Given the description of an element on the screen output the (x, y) to click on. 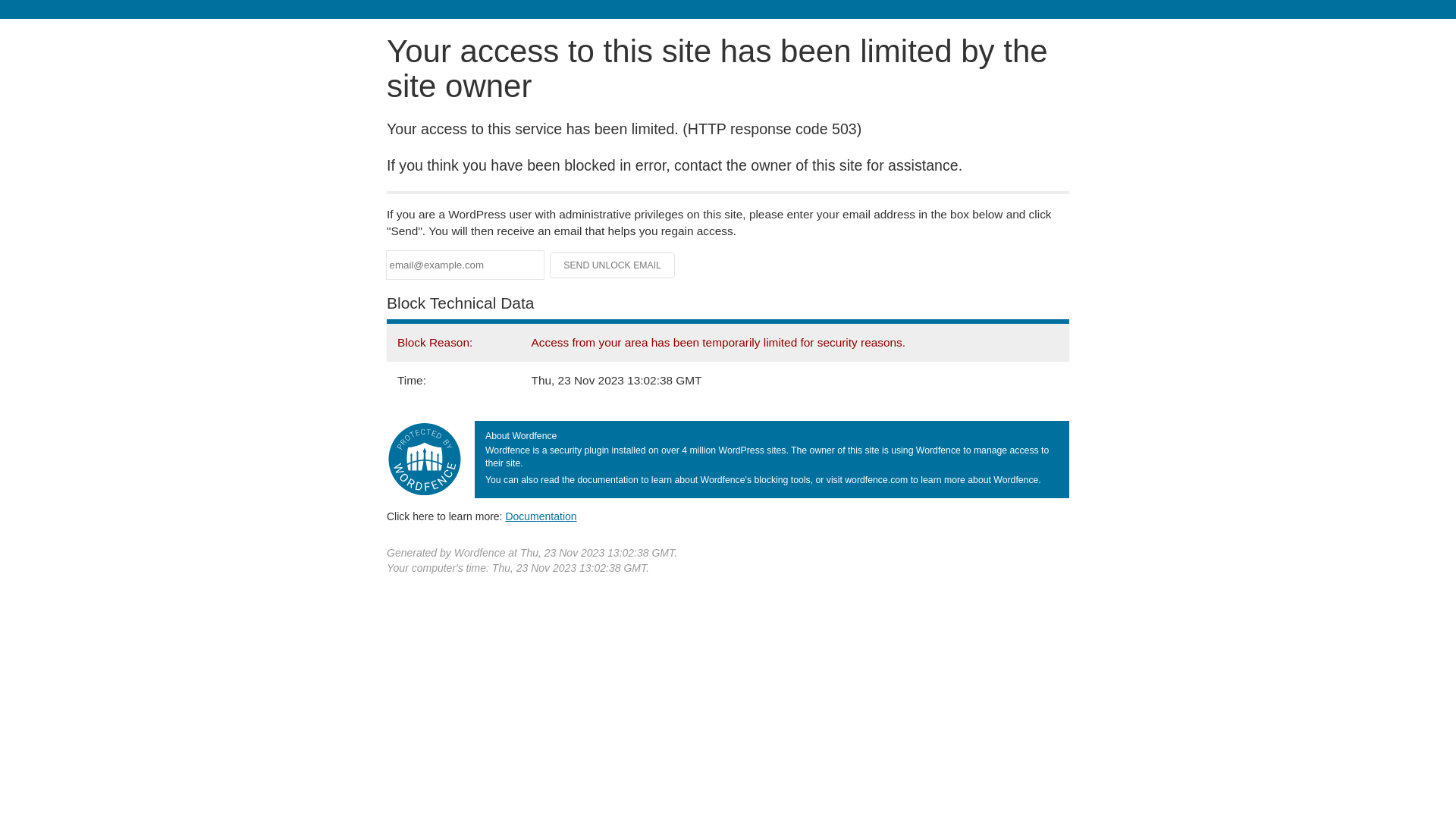
Send Unlock Email Element type: text (612, 265)
Documentation Element type: text (540, 516)
